Given the description of an element on the screen output the (x, y) to click on. 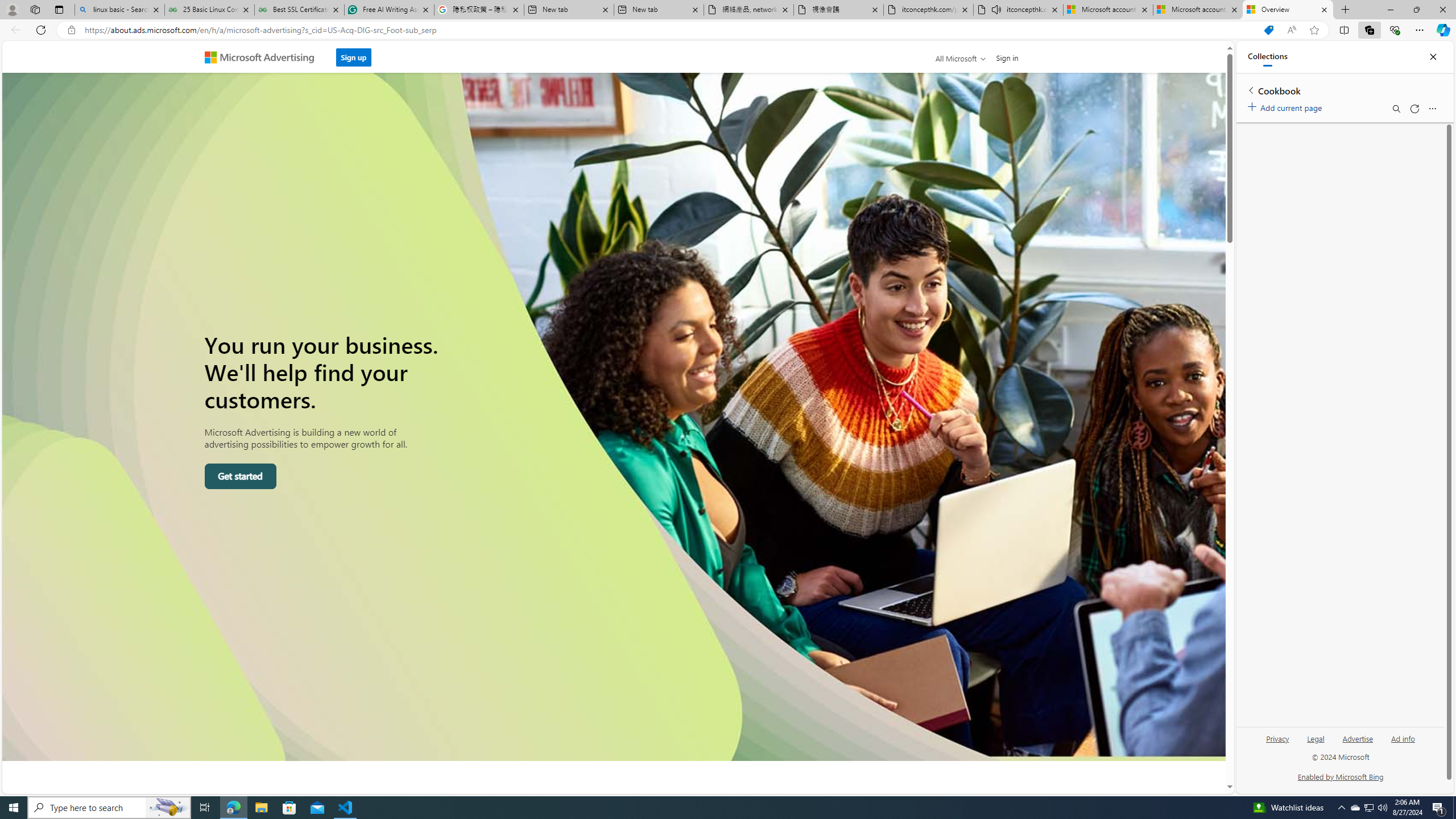
Sign up (352, 57)
Free AI Writing Assistance for Students | Grammarly (389, 9)
Sign up (353, 53)
Get started (239, 476)
Add current page (1286, 105)
itconcepthk.com/projector_solutions.mp4 - Audio playing (1018, 9)
